Given the description of an element on the screen output the (x, y) to click on. 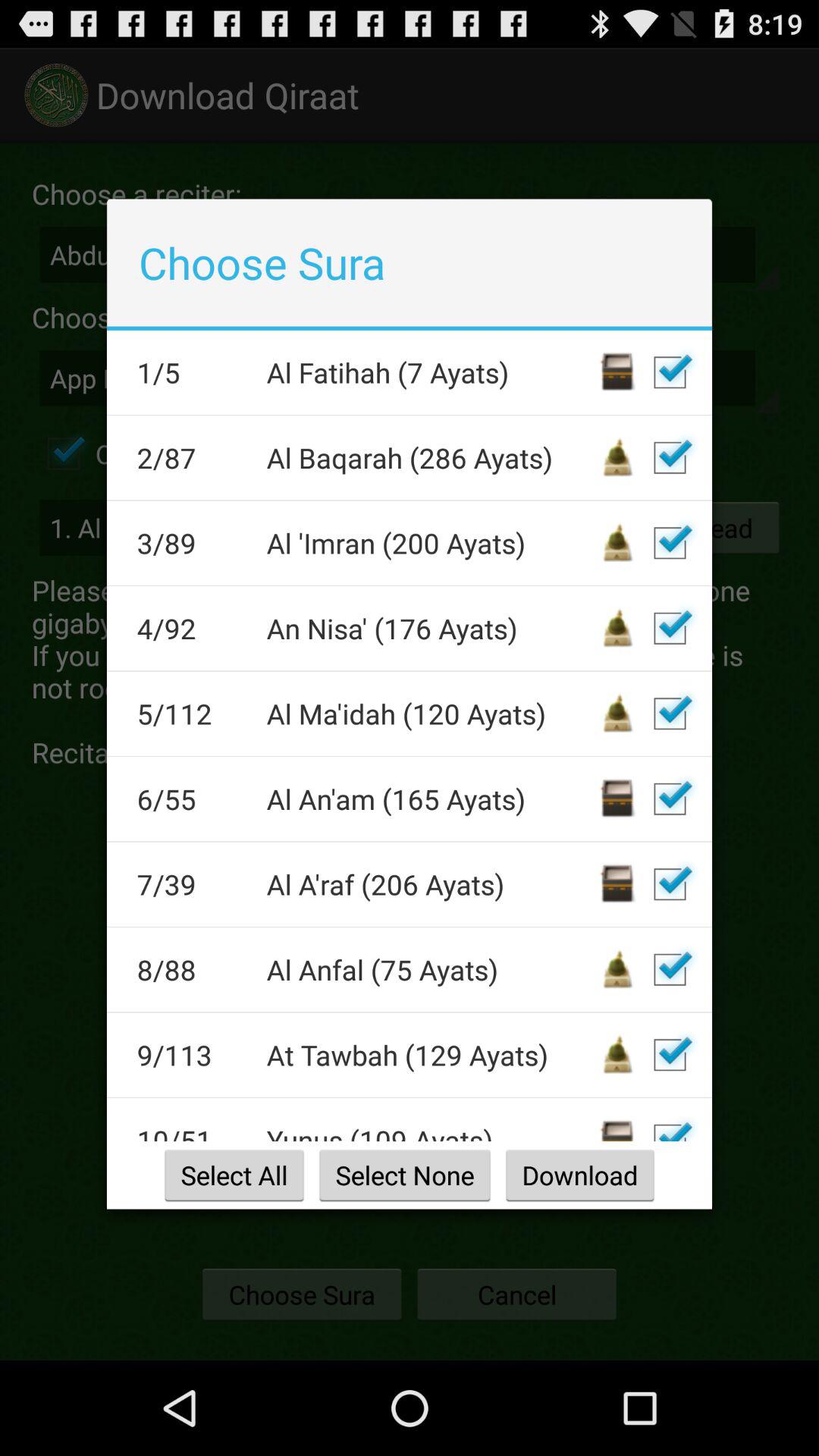
check sura option (669, 713)
